Given the description of an element on the screen output the (x, y) to click on. 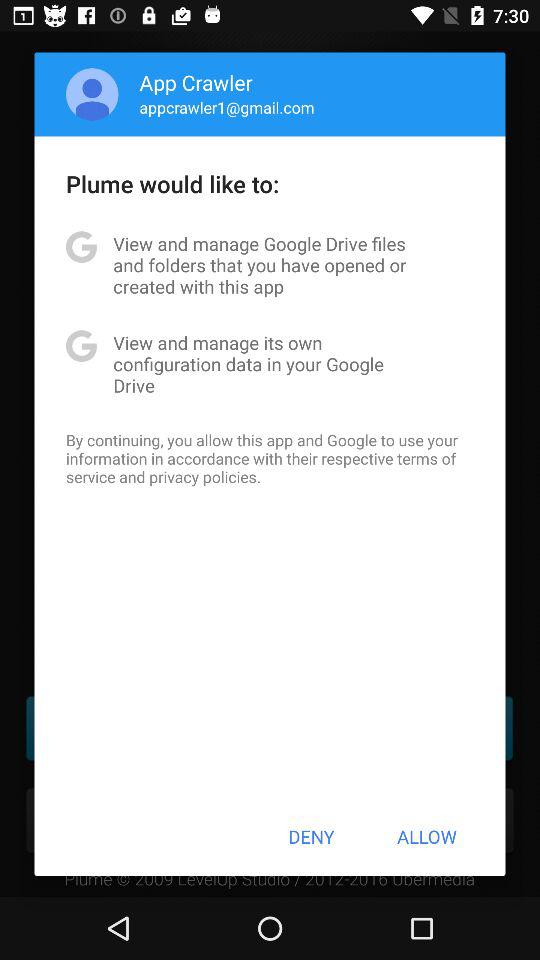
flip to appcrawler1@gmail.com (226, 107)
